Given the description of an element on the screen output the (x, y) to click on. 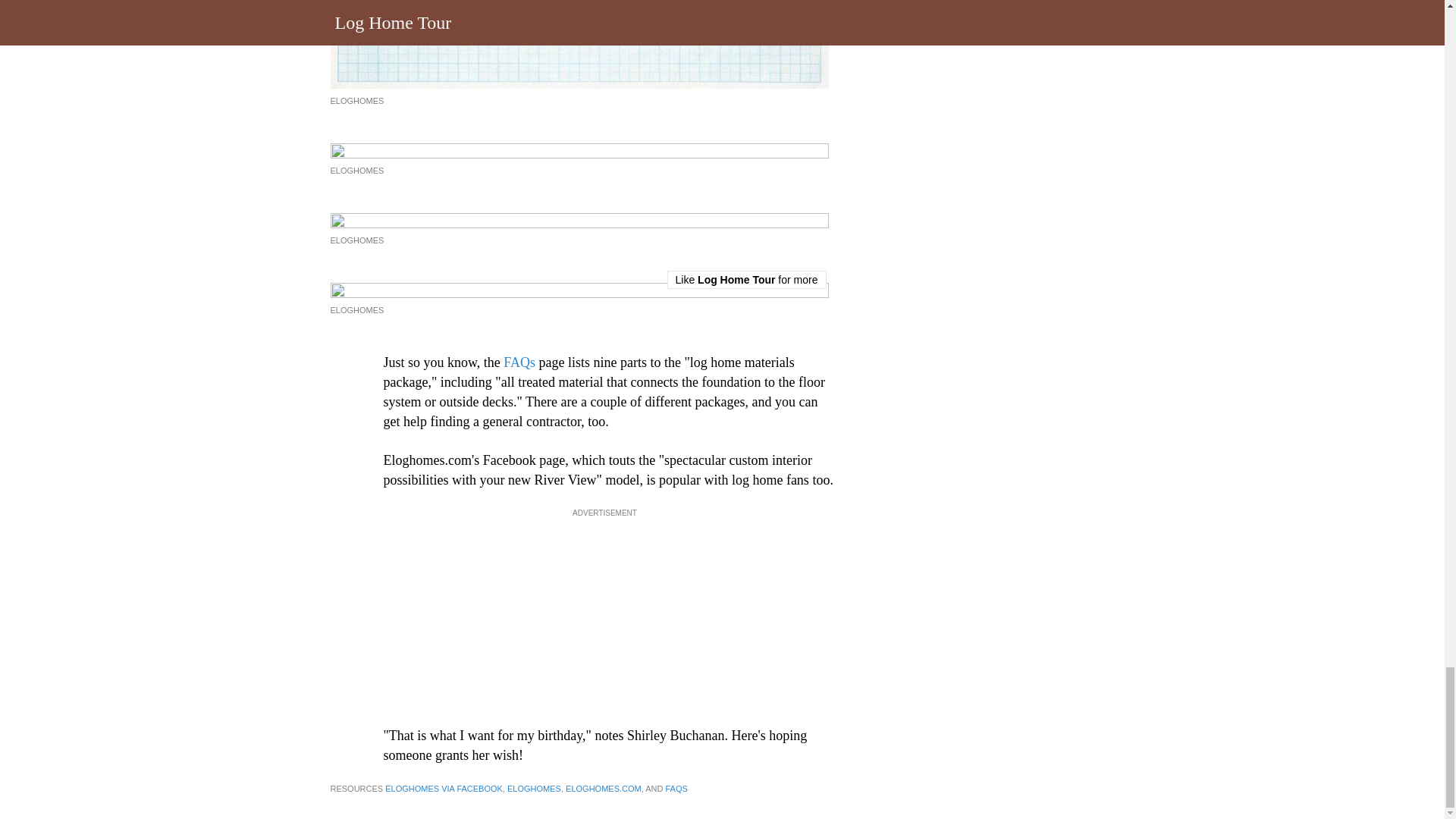
FAQs (519, 362)
ELOGHOMES VIA FACEBOOK (443, 788)
ELOGHOMES (357, 100)
ELOGHOMES (357, 239)
ELOGHOMES.COM (604, 788)
ELOGHOMES (357, 309)
ELOGHOMES (533, 788)
ELOGHOMES (357, 170)
FAQS (676, 788)
